Given the description of an element on the screen output the (x, y) to click on. 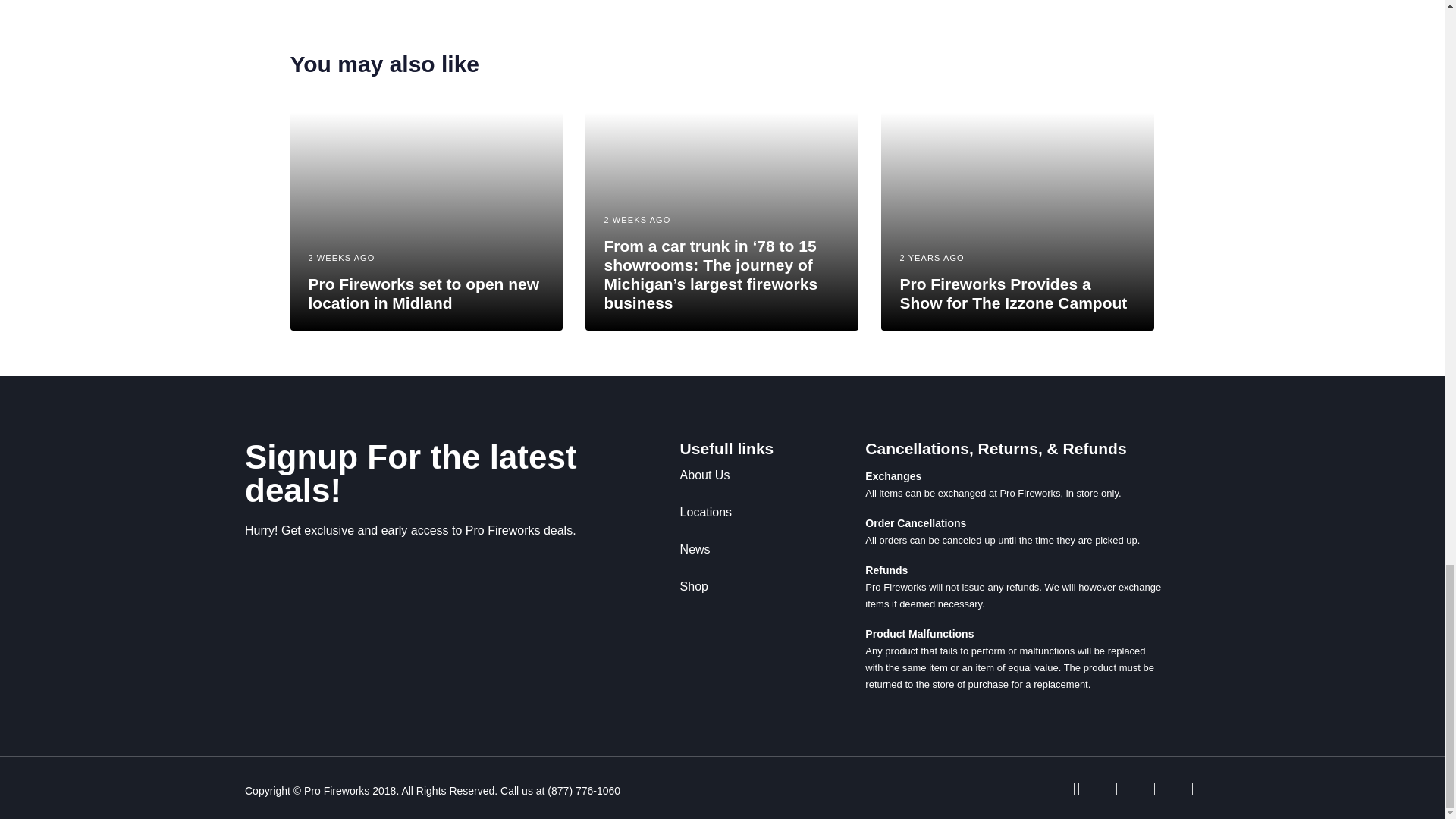
Locations (748, 512)
Shop (748, 586)
About Us (748, 475)
Pro Fireworks Provides a Show for The Izzone Campout (1012, 293)
News (748, 548)
Pro Fireworks set to open new location in Midland (422, 293)
